Given the description of an element on the screen output the (x, y) to click on. 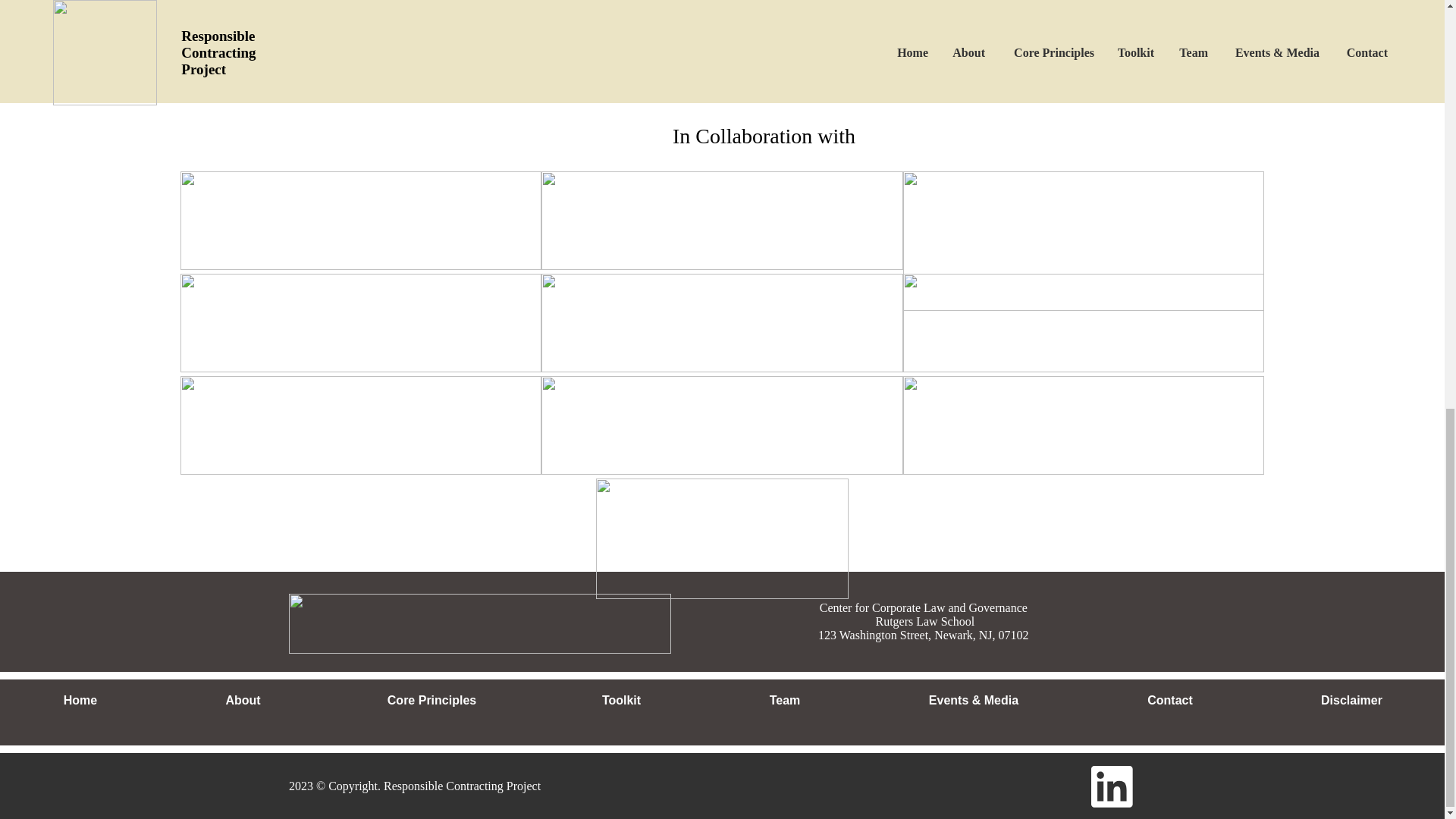
Team (783, 700)
Home (80, 700)
Contact (1169, 700)
Core Principles (431, 700)
Toolkit (620, 700)
About (242, 700)
